Given the description of an element on the screen output the (x, y) to click on. 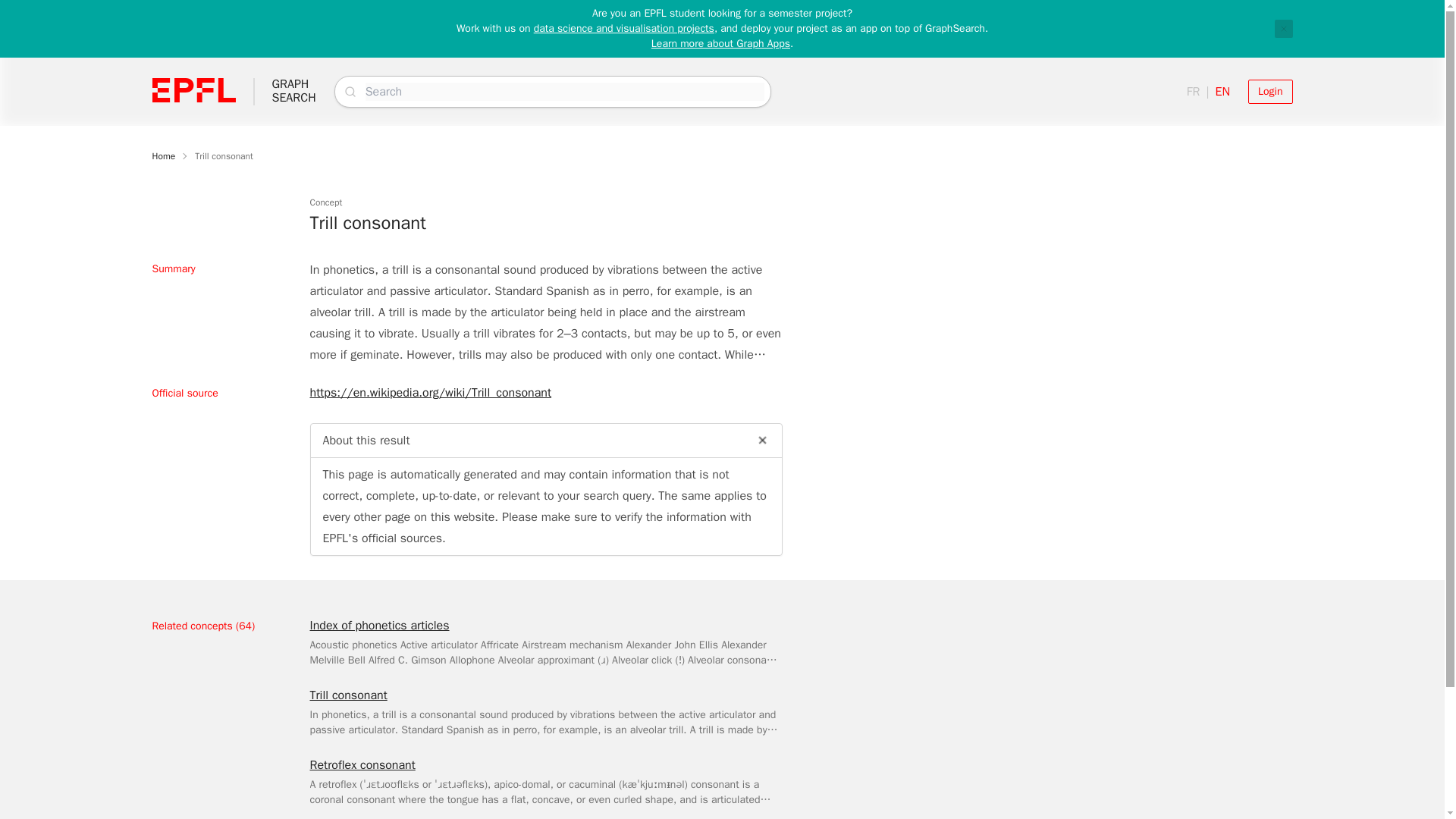
Close notification (1283, 28)
Trill consonant (347, 695)
Login (1269, 91)
Retroflex consonant (361, 764)
Home (162, 155)
Learn more about Graph Apps (720, 42)
Index of phonetics articles (378, 625)
Trill consonant (224, 155)
data science and visualisation projects (624, 28)
